Given the description of an element on the screen output the (x, y) to click on. 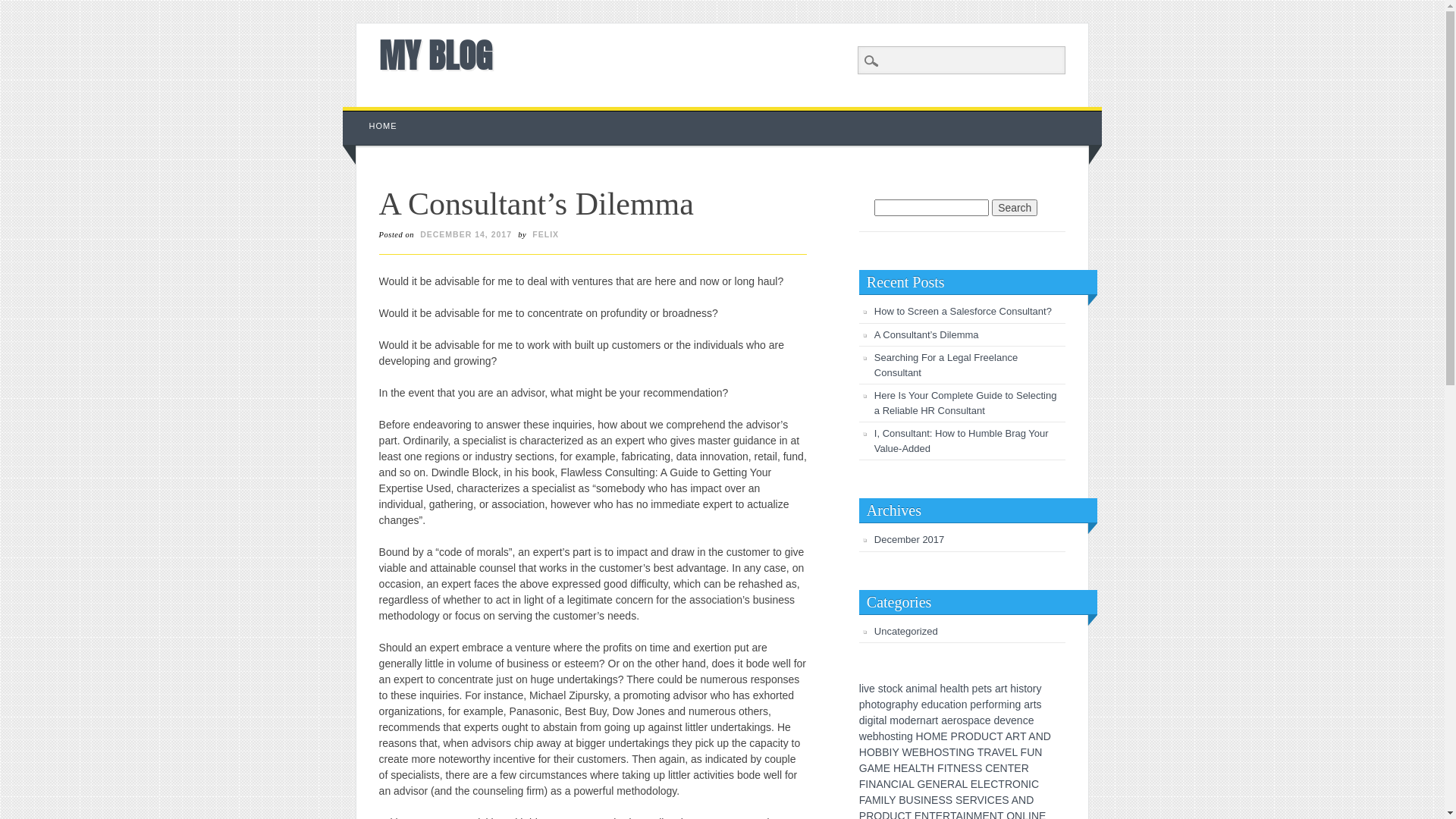
G Element type: text (970, 752)
a Element type: text (1026, 704)
A Element type: text (868, 799)
r Element type: text (955, 720)
s Element type: text (880, 688)
U Element type: text (909, 799)
December 2017 Element type: text (909, 539)
p Element type: text (862, 704)
p Element type: text (903, 704)
t Element type: text (1024, 688)
v Element type: text (1007, 720)
S Element type: text (971, 768)
I Element type: text (985, 799)
d Element type: text (996, 720)
N Element type: text (887, 784)
m Element type: text (893, 720)
I Element type: text (956, 752)
a Element type: text (947, 704)
h Element type: text (1013, 688)
a Element type: text (954, 688)
B Element type: text (884, 752)
S Element type: text (941, 799)
r Element type: text (995, 704)
I Element type: text (866, 784)
N Element type: text (962, 752)
e Element type: text (948, 688)
Y Element type: text (891, 799)
E Element type: text (934, 799)
t Element type: text (896, 736)
E Element type: text (903, 768)
v Element type: text (866, 688)
t Element type: text (1005, 688)
l Element type: text (885, 720)
A Element type: text (904, 784)
H Element type: text (896, 768)
H Element type: text (862, 752)
N Element type: text (927, 799)
o Element type: text (959, 720)
r Element type: text (893, 704)
m Element type: text (923, 688)
V Element type: text (1000, 752)
c Element type: text (982, 720)
h Element type: text (909, 704)
k Element type: text (899, 688)
t Element type: text (936, 720)
R Element type: text (987, 752)
I Element type: text (945, 768)
i Element type: text (954, 704)
E Element type: text (943, 736)
f Element type: text (986, 704)
b Element type: text (875, 736)
S Element type: text (958, 799)
n Element type: text (914, 688)
B Element type: text (922, 752)
H Element type: text (930, 768)
Uncategorized Element type: text (906, 631)
e Element type: text (988, 720)
F Element type: text (1023, 752)
M Element type: text (878, 768)
e Element type: text (1002, 720)
N Element type: text (1039, 736)
G Element type: text (920, 784)
S Element type: text (916, 799)
B Element type: text (901, 799)
e Element type: text (913, 720)
O Element type: text (927, 736)
R Element type: text (950, 784)
N Element type: text (1022, 799)
a Element type: text (908, 688)
i Element type: text (862, 688)
T Element type: text (1010, 768)
s Element type: text (1038, 704)
T Element type: text (950, 768)
e Element type: text (1031, 720)
o Element type: text (991, 704)
C Element type: text (990, 799)
a Element type: text (931, 688)
d Element type: text (862, 720)
o Element type: text (958, 704)
t Element type: text (961, 688)
t Element type: text (884, 688)
MY BLOG Element type: text (435, 55)
P Element type: text (953, 736)
d Element type: text (907, 720)
N Element type: text (1003, 768)
F Element type: text (862, 799)
I Element type: text (1029, 784)
U Element type: text (984, 736)
m Element type: text (1002, 704)
e Element type: text (978, 704)
a Element type: text (881, 720)
l Element type: text (935, 688)
C Element type: text (894, 784)
e Element type: text (924, 704)
S Element type: text (978, 768)
I Element type: text (921, 799)
t Element type: text (1034, 704)
H Element type: text (929, 752)
F Element type: text (940, 768)
O Element type: text (937, 752)
n Element type: text (903, 736)
t Element type: text (951, 704)
L Element type: text (910, 784)
B Element type: text (878, 752)
E Element type: text (943, 784)
g Element type: text (1018, 704)
n Element type: text (922, 720)
g Element type: text (888, 704)
n Element type: text (1019, 720)
e Element type: text (950, 720)
s Element type: text (1020, 688)
S Element type: text (1004, 799)
l Element type: text (958, 688)
R Element type: text (1025, 768)
o Element type: text (887, 736)
d Element type: text (929, 704)
a Element type: text (976, 720)
C Element type: text (988, 768)
A Element type: text (1008, 736)
o Element type: text (901, 720)
T Element type: text (1022, 736)
A Element type: text (994, 752)
A Element type: text (910, 768)
R Element type: text (973, 799)
I Element type: text (889, 752)
i Element type: text (866, 720)
o Element type: text (1029, 688)
HOME Element type: text (383, 125)
r Element type: text (933, 720)
Y Element type: text (894, 752)
T Element type: text (980, 752)
A Element type: text (957, 784)
e Element type: text (980, 688)
L Element type: text (980, 784)
h Element type: text (868, 704)
How to Screen a Salesforce Consultant? Element type: text (962, 310)
T Element type: text (1000, 784)
p Element type: text (972, 704)
E Element type: text (928, 784)
o Element type: text (873, 704)
E Element type: text (1016, 768)
s Element type: text (964, 720)
c Element type: text (1025, 720)
O Element type: text (969, 736)
A Element type: text (1031, 736)
E Element type: text (995, 768)
y Element type: text (1038, 688)
p Element type: text (975, 688)
I Element type: text (899, 784)
r Element type: text (983, 704)
c Element type: text (941, 704)
E Element type: text (963, 768)
I Element type: text (882, 799)
i Element type: text (918, 688)
L Element type: text (1013, 752)
N Element type: text (871, 784)
C Element type: text (992, 736)
O Element type: text (870, 752)
M Element type: text (936, 736)
y Element type: text (915, 704)
D Element type: text (977, 736)
e Element type: text (1013, 720)
e Element type: text (872, 688)
A Element type: text (878, 784)
T Element type: text (923, 768)
n Element type: text (964, 704)
E Element type: text (973, 784)
N Element type: text (1024, 784)
Skip to content Element type: text (377, 114)
W Element type: text (906, 752)
A Element type: text (1014, 799)
L Element type: text (885, 799)
n Element type: text (1012, 704)
a Element type: text (928, 720)
FELIX Element type: text (545, 233)
M Element type: text (876, 799)
E Element type: text (986, 784)
DECEMBER 14, 2017 Element type: text (465, 233)
E Element type: text (997, 799)
V Element type: text (980, 799)
R Element type: text (961, 736)
r Element type: text (1031, 704)
T Element type: text (999, 736)
Searching For a Legal Freelance Consultant Element type: text (945, 364)
g Element type: text (870, 720)
r Element type: text (1002, 688)
Search Element type: text (22, 8)
H Element type: text (919, 736)
C Element type: text (993, 784)
s Element type: text (892, 736)
N Element type: text (1037, 752)
w Element type: text (862, 736)
L Element type: text (917, 768)
U Element type: text (1030, 752)
a Element type: text (944, 720)
E Element type: text (965, 799)
t Element type: text (984, 688)
a Element type: text (897, 704)
R Element type: text (1008, 784)
T Element type: text (952, 752)
S Element type: text (948, 799)
A Element type: text (870, 768)
i Element type: text (874, 720)
R Element type: text (1015, 736)
i Element type: text (899, 736)
p Element type: text (970, 720)
E Element type: text (915, 752)
h Element type: text (943, 688)
h Element type: text (881, 736)
o Element type: text (882, 704)
E Element type: text (886, 768)
I, Consultant: How to Humble Brag Your Value-Added Element type: text (961, 440)
S Element type: text (944, 752)
L Element type: text (964, 784)
i Element type: text (1017, 688)
i Element type: text (1008, 704)
E Element type: text (1007, 752)
c Element type: text (894, 688)
N Element type: text (956, 768)
t Element type: text (877, 704)
O Element type: text (1016, 784)
e Element type: text (869, 736)
C Element type: text (1034, 784)
u Element type: text (935, 704)
r Element type: text (917, 720)
Search Element type: text (1014, 207)
F Element type: text (862, 784)
o Element type: text (889, 688)
D Element type: text (1029, 799)
G Element type: text (863, 768)
a Element type: text (997, 688)
D Element type: text (1047, 736)
s Element type: text (988, 688)
g Element type: text (909, 736)
t Element type: text (876, 720)
r Element type: text (1034, 688)
h Element type: text (966, 688)
l Element type: text (860, 688)
N Element type: text (936, 784)
